Given the description of an element on the screen output the (x, y) to click on. 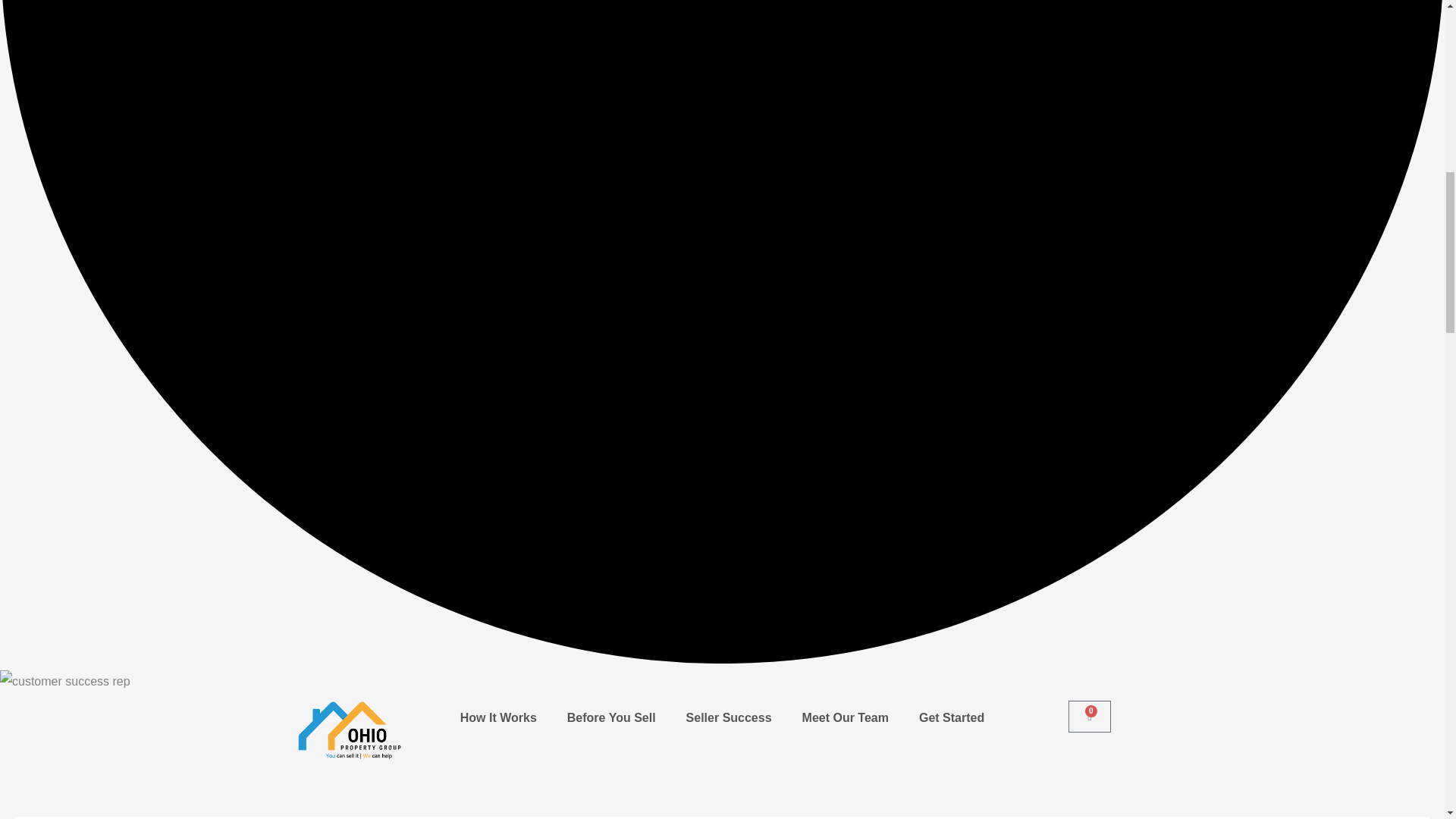
Meet Our Team (845, 718)
Seller Success (729, 718)
How It Works (1088, 716)
Before You Sell (498, 718)
Get Started (611, 718)
